Given the description of an element on the screen output the (x, y) to click on. 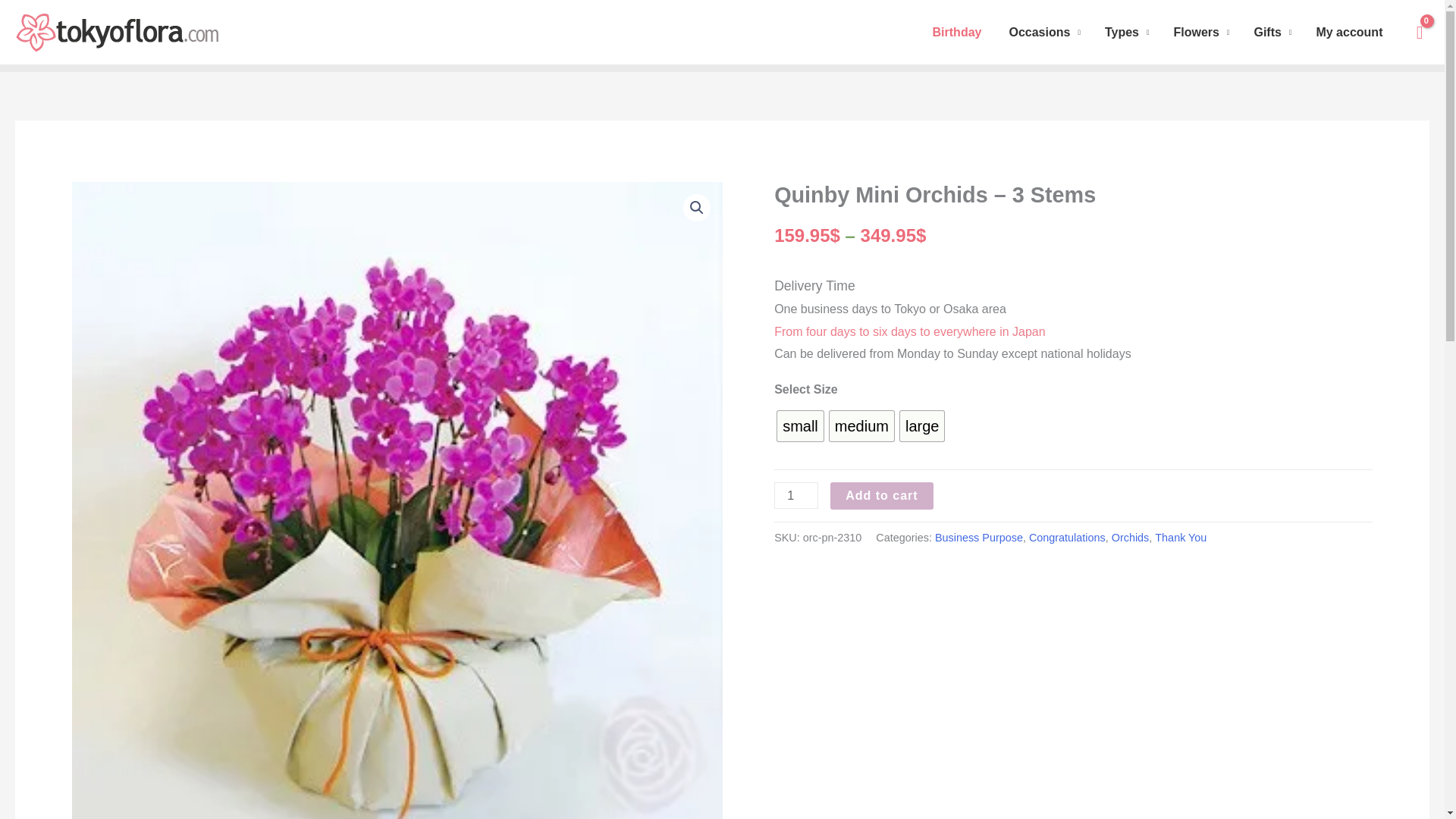
1 (796, 495)
medium (861, 426)
Types (1127, 31)
large (921, 426)
Occasions (1043, 31)
Birthday (957, 31)
Flowers (1200, 31)
Gifts (1272, 31)
small (800, 426)
